Given the description of an element on the screen output the (x, y) to click on. 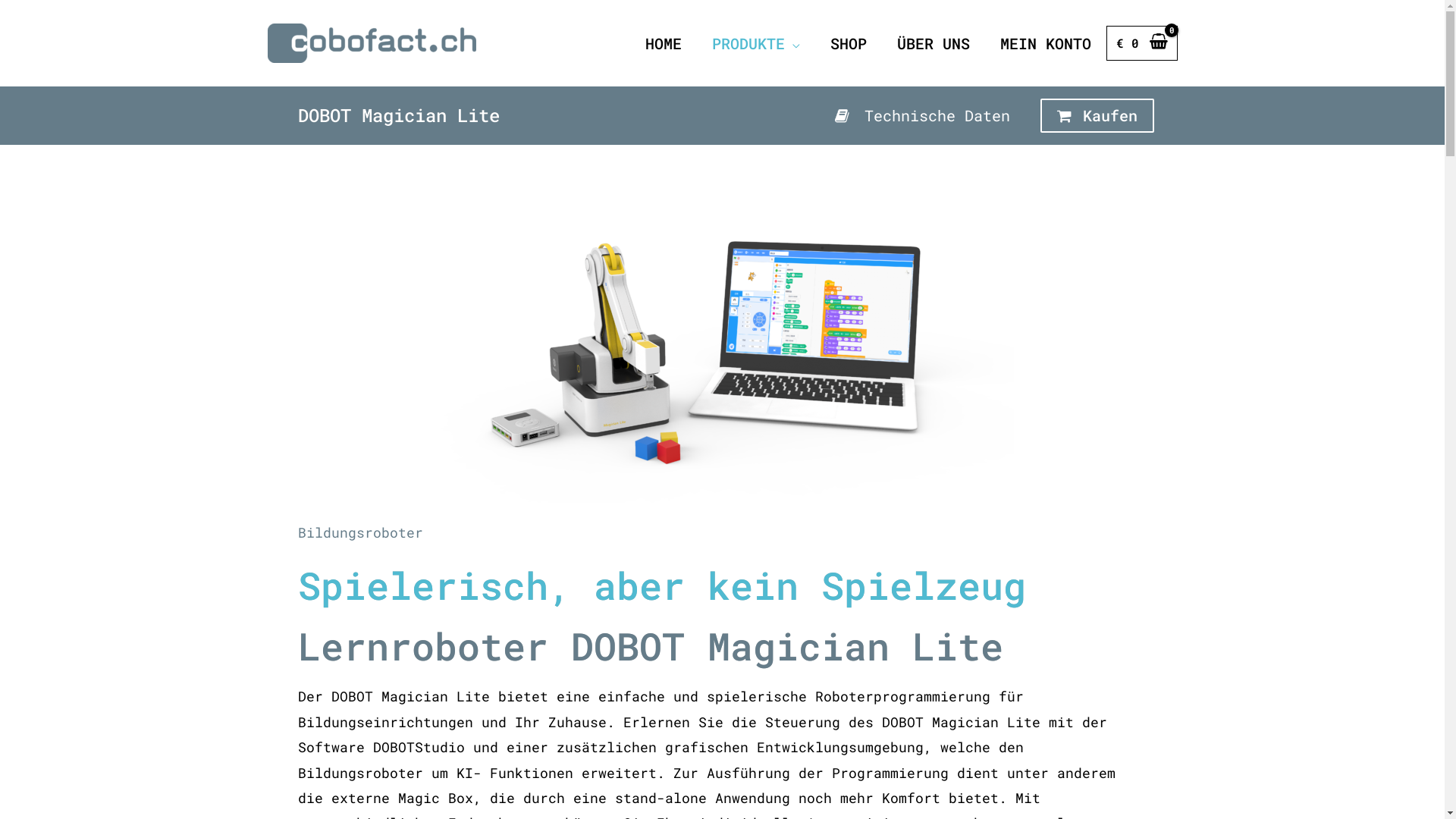
Technische Daten Element type: text (807, 115)
SHOP Element type: text (848, 42)
MEIN KONTO Element type: text (1045, 42)
PRODUKTE Element type: text (755, 42)
Kaufen Element type: text (1097, 115)
HOME Element type: text (663, 42)
